Given the description of an element on the screen output the (x, y) to click on. 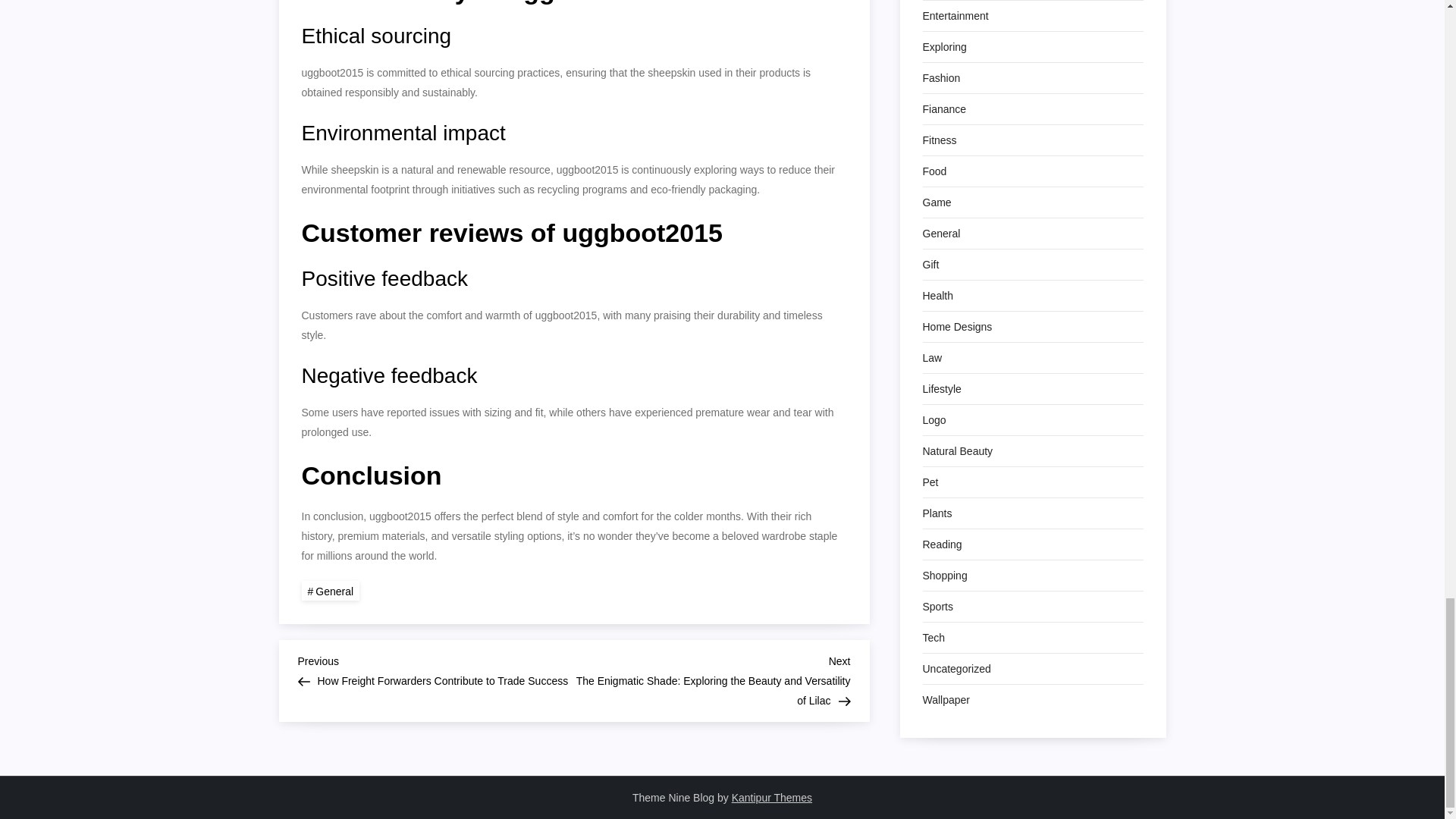
General (330, 590)
